Given the description of an element on the screen output the (x, y) to click on. 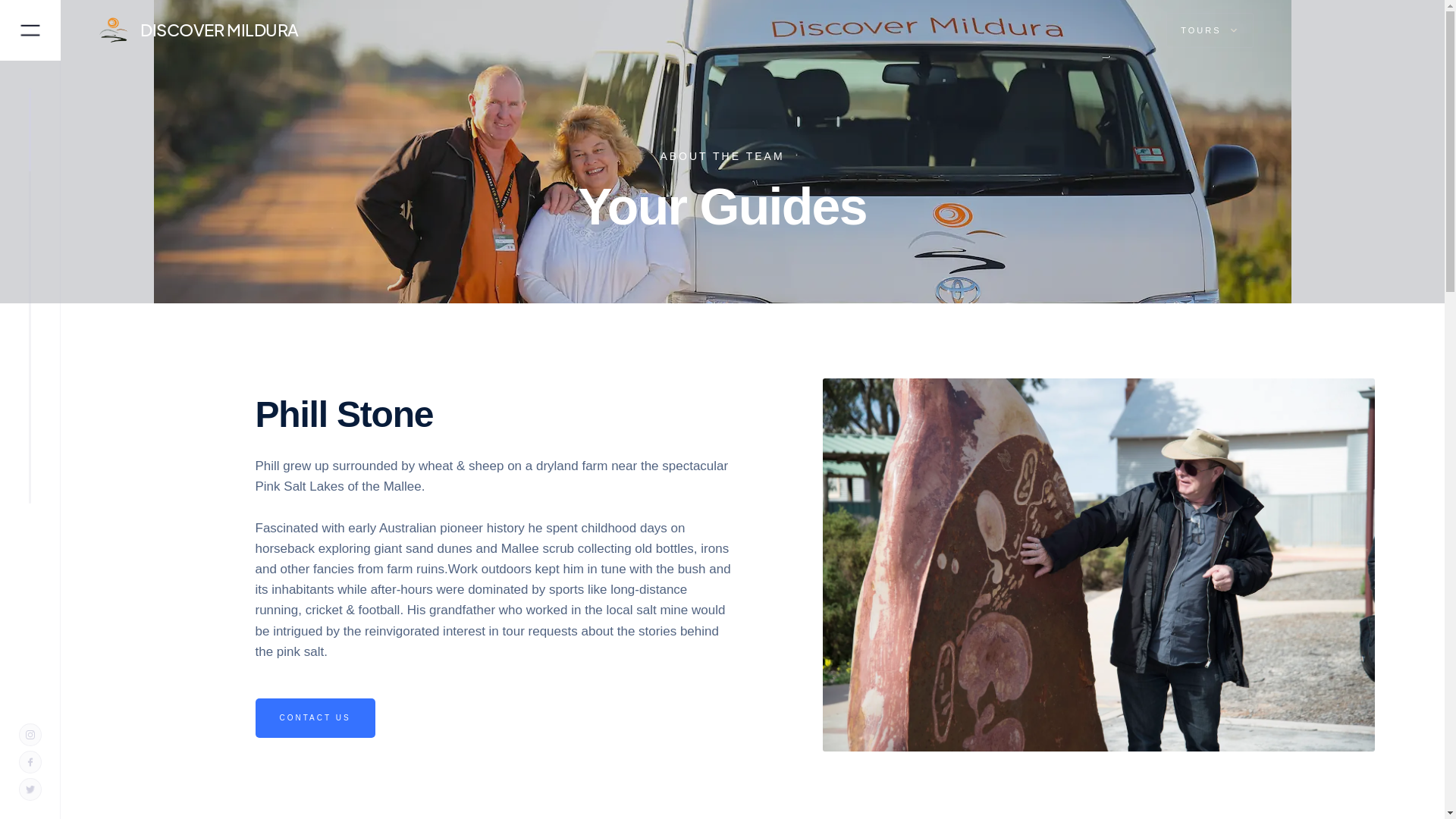
CONTACT US Element type: text (314, 717)
DISCOVER MILDURA Element type: text (286, 30)
